Given the description of an element on the screen output the (x, y) to click on. 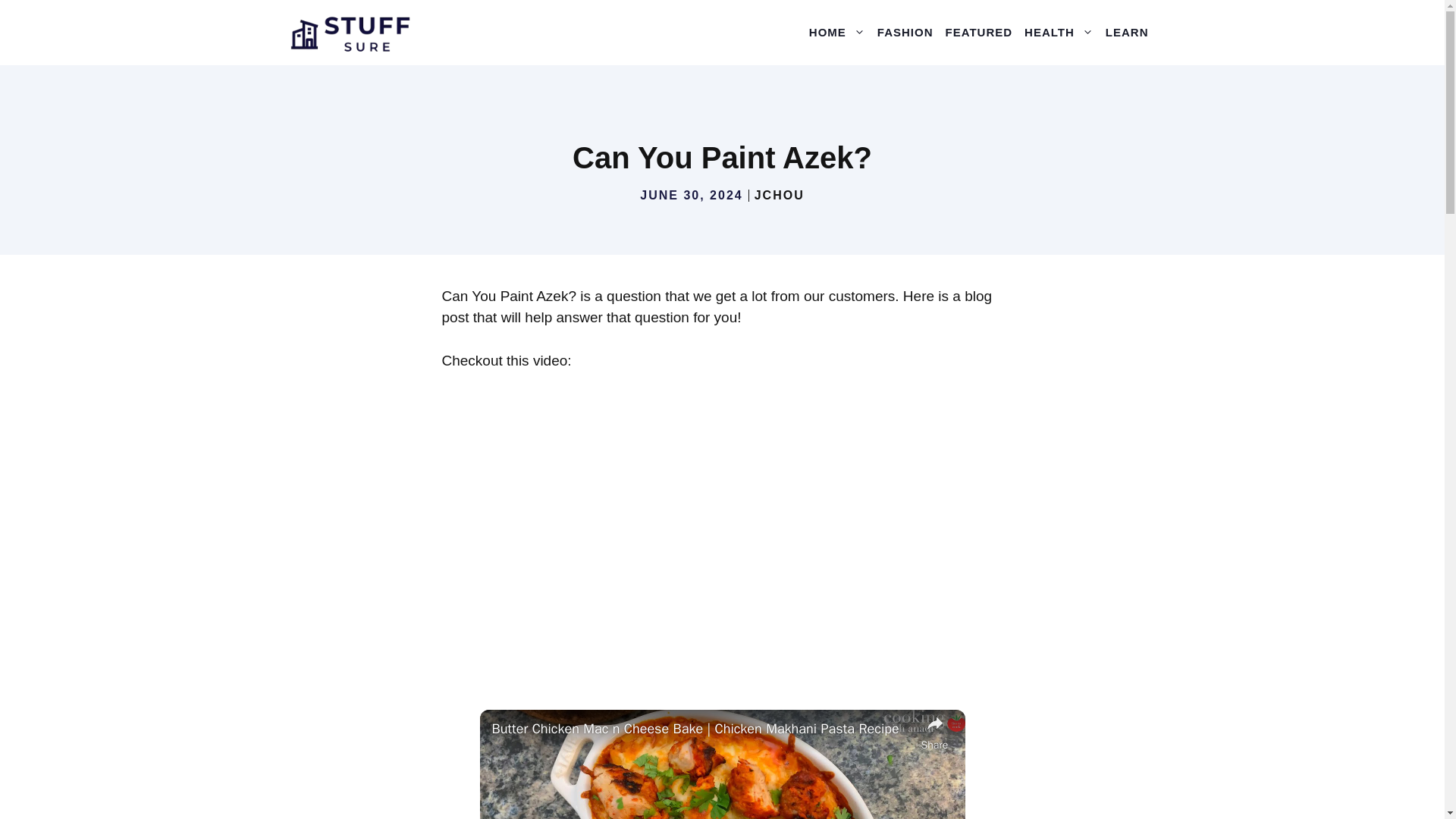
HEALTH (1058, 32)
LEARN (1126, 32)
FEATURED (979, 32)
FASHION (904, 32)
HOME (836, 32)
